Given the description of an element on the screen output the (x, y) to click on. 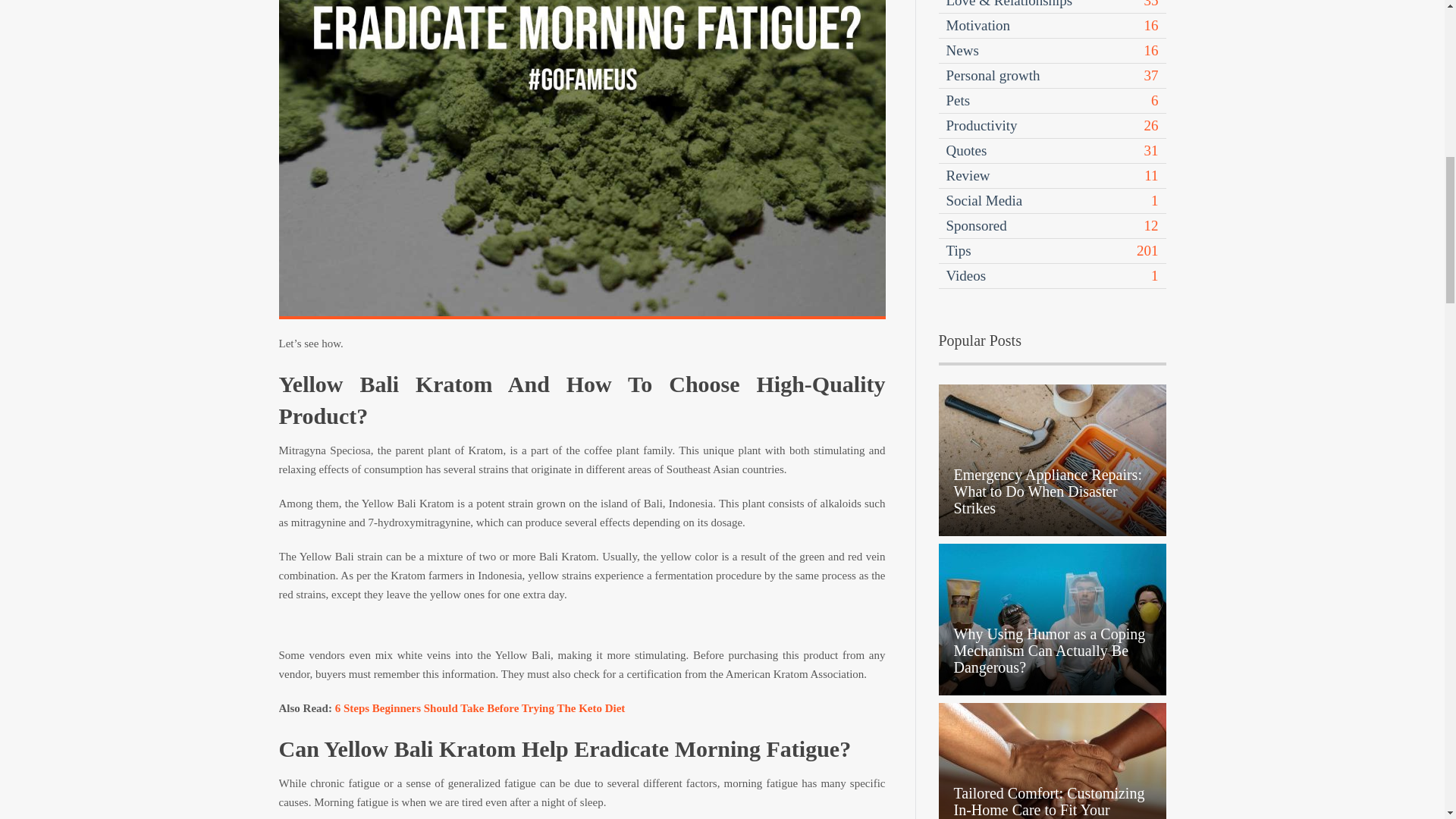
6 Steps Beginners Should Take Before Trying The Keto Diet (480, 707)
